Given the description of an element on the screen output the (x, y) to click on. 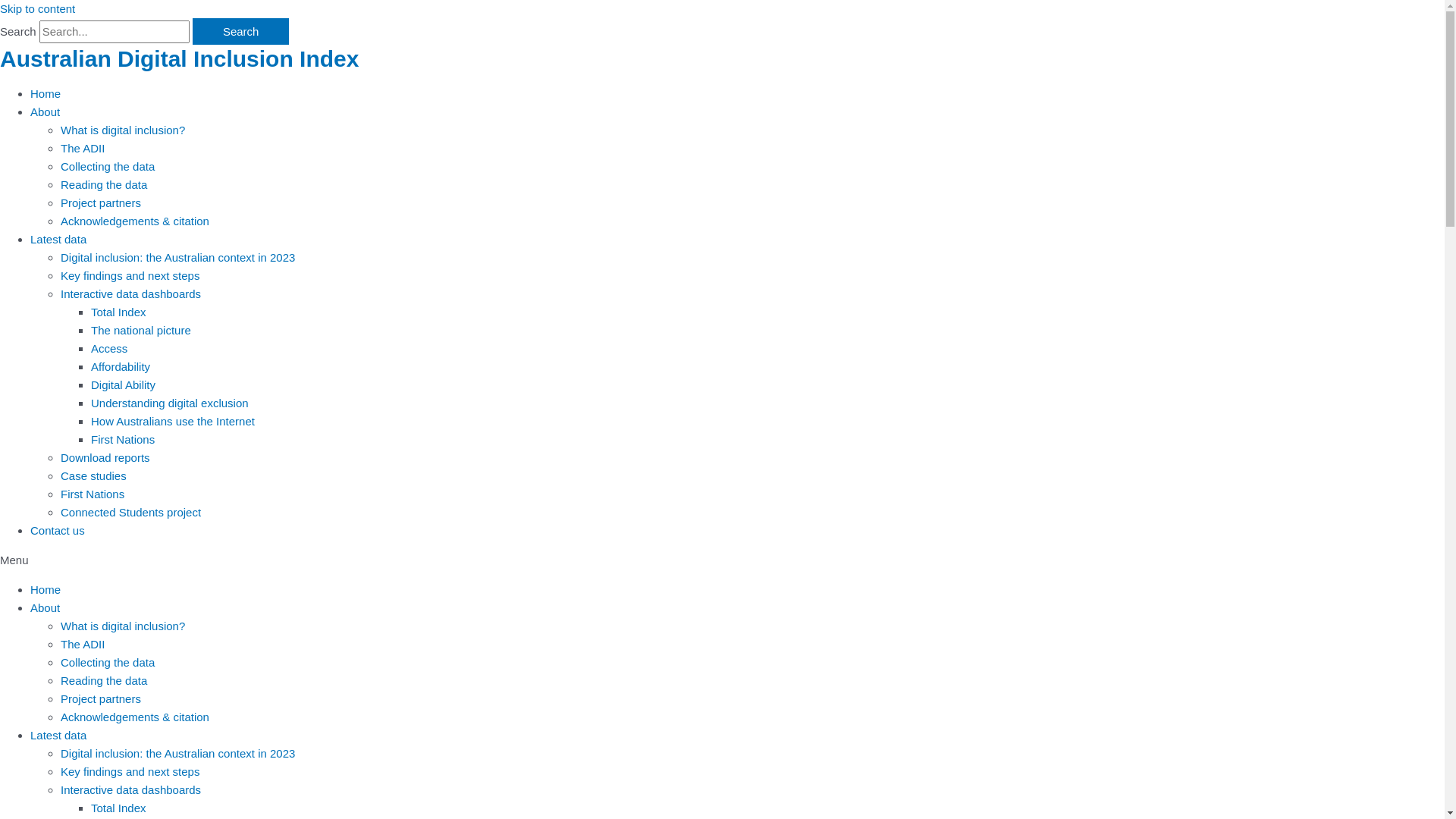
About Element type: text (44, 606)
Access Element type: text (109, 347)
Key findings and next steps Element type: text (129, 770)
What is digital inclusion? Element type: text (122, 624)
The ADII Element type: text (82, 643)
Skip to content Element type: text (37, 8)
Home Element type: text (45, 588)
Affordability Element type: text (120, 365)
Contact us Element type: text (57, 529)
Home Element type: text (45, 92)
How Australians use the Internet Element type: text (172, 420)
Digital Ability Element type: text (123, 383)
Total Index Element type: text (118, 806)
Acknowledgements & citation Element type: text (134, 219)
First Nations Element type: text (92, 492)
Download reports Element type: text (105, 456)
Understanding digital exclusion Element type: text (169, 401)
Reading the data Element type: text (103, 183)
The national picture Element type: text (141, 329)
Interactive data dashboards Element type: text (130, 788)
Search Element type: text (240, 31)
Digital inclusion: the Australian context in 2023 Element type: text (177, 256)
Collecting the data Element type: text (107, 165)
First Nations Element type: text (122, 438)
The ADII Element type: text (82, 147)
Case studies Element type: text (93, 474)
Latest data Element type: text (58, 238)
About Element type: text (44, 110)
Connected Students project Element type: text (130, 511)
Australian Digital Inclusion Index Element type: text (179, 58)
Latest data Element type: text (58, 734)
Collecting the data Element type: text (107, 661)
Total Index Element type: text (118, 310)
What is digital inclusion? Element type: text (122, 128)
Project partners Element type: text (100, 201)
Key findings and next steps Element type: text (129, 274)
Reading the data Element type: text (103, 679)
Project partners Element type: text (100, 697)
Interactive data dashboards Element type: text (130, 292)
Acknowledgements & citation Element type: text (134, 715)
Digital inclusion: the Australian context in 2023 Element type: text (177, 752)
